Given the description of an element on the screen output the (x, y) to click on. 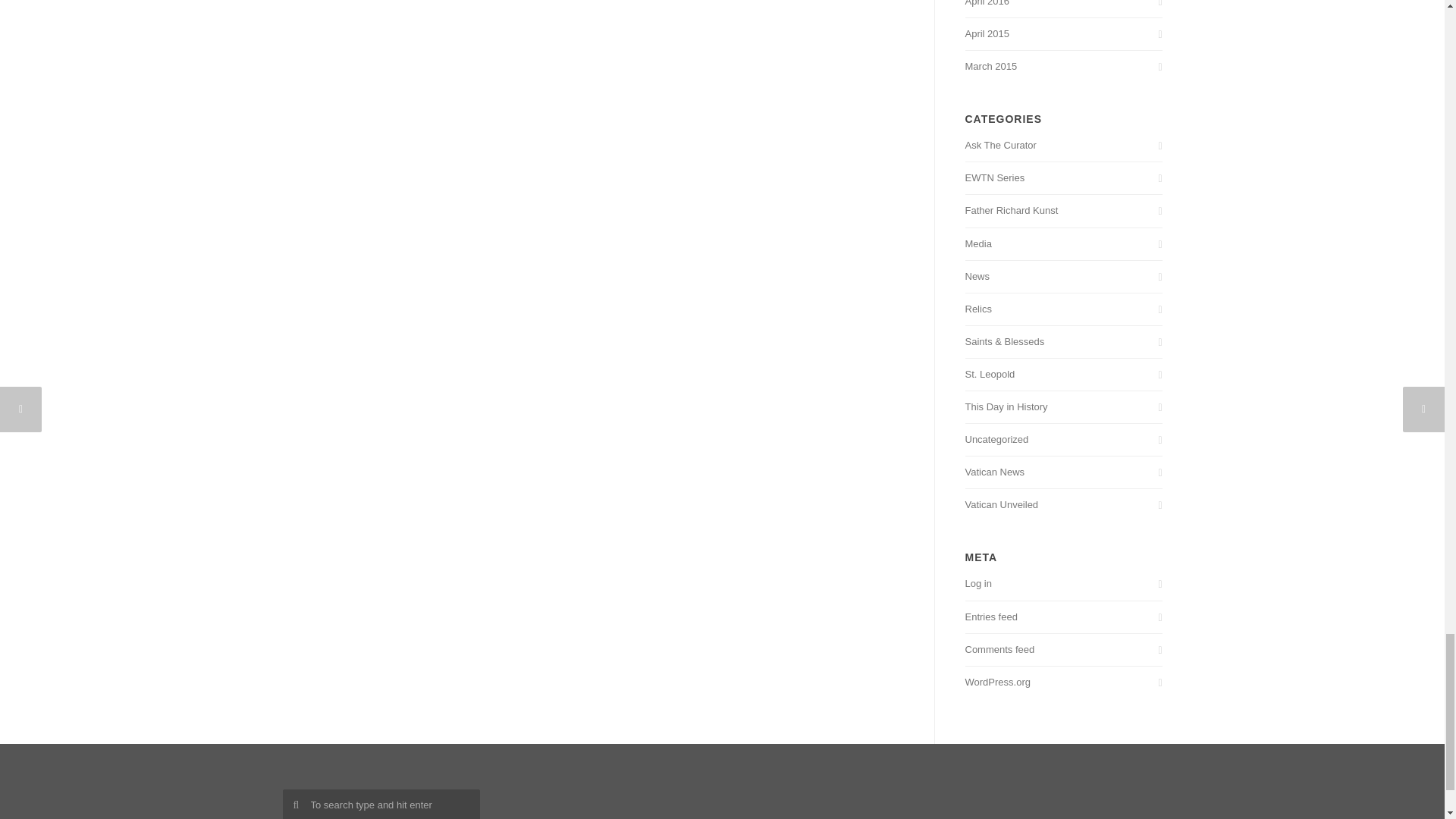
To search type and hit enter (380, 804)
